Given the description of an element on the screen output the (x, y) to click on. 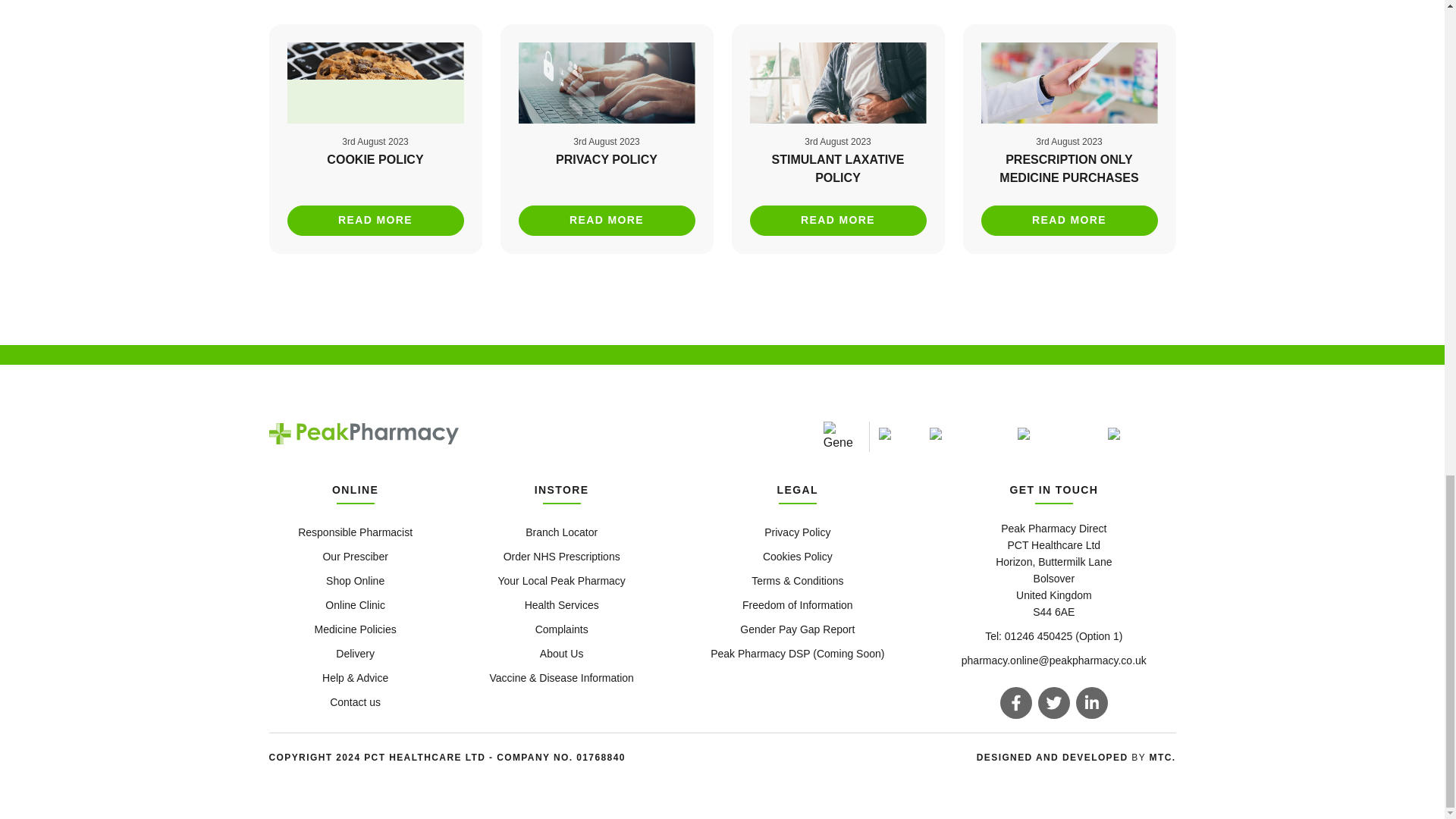
Opens in a new window (1053, 757)
Prescription Only Medicine Purchases (1069, 138)
Stimulant Laxative Policy (836, 138)
Opens in a new window (1163, 757)
General Pharmaceutical Council (838, 436)
Cookie Policy (374, 138)
logo (362, 433)
Privacy Policy (606, 138)
